Given the description of an element on the screen output the (x, y) to click on. 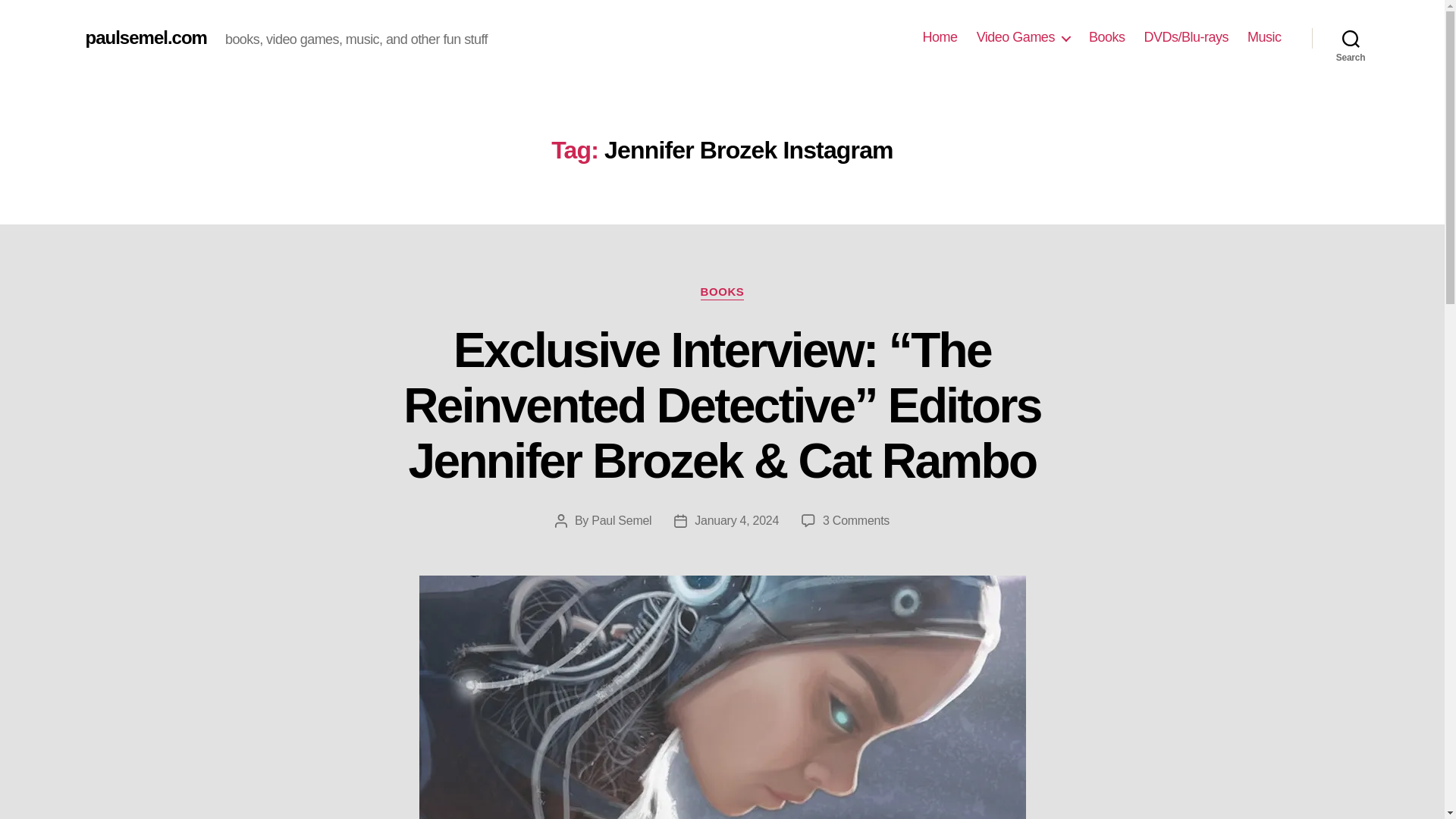
Search (1350, 37)
BOOKS (722, 292)
paulsemel.com (145, 37)
Video Games (1023, 37)
Paul Semel (620, 520)
Home (940, 37)
Books (1107, 37)
Music (1264, 37)
